Given the description of an element on the screen output the (x, y) to click on. 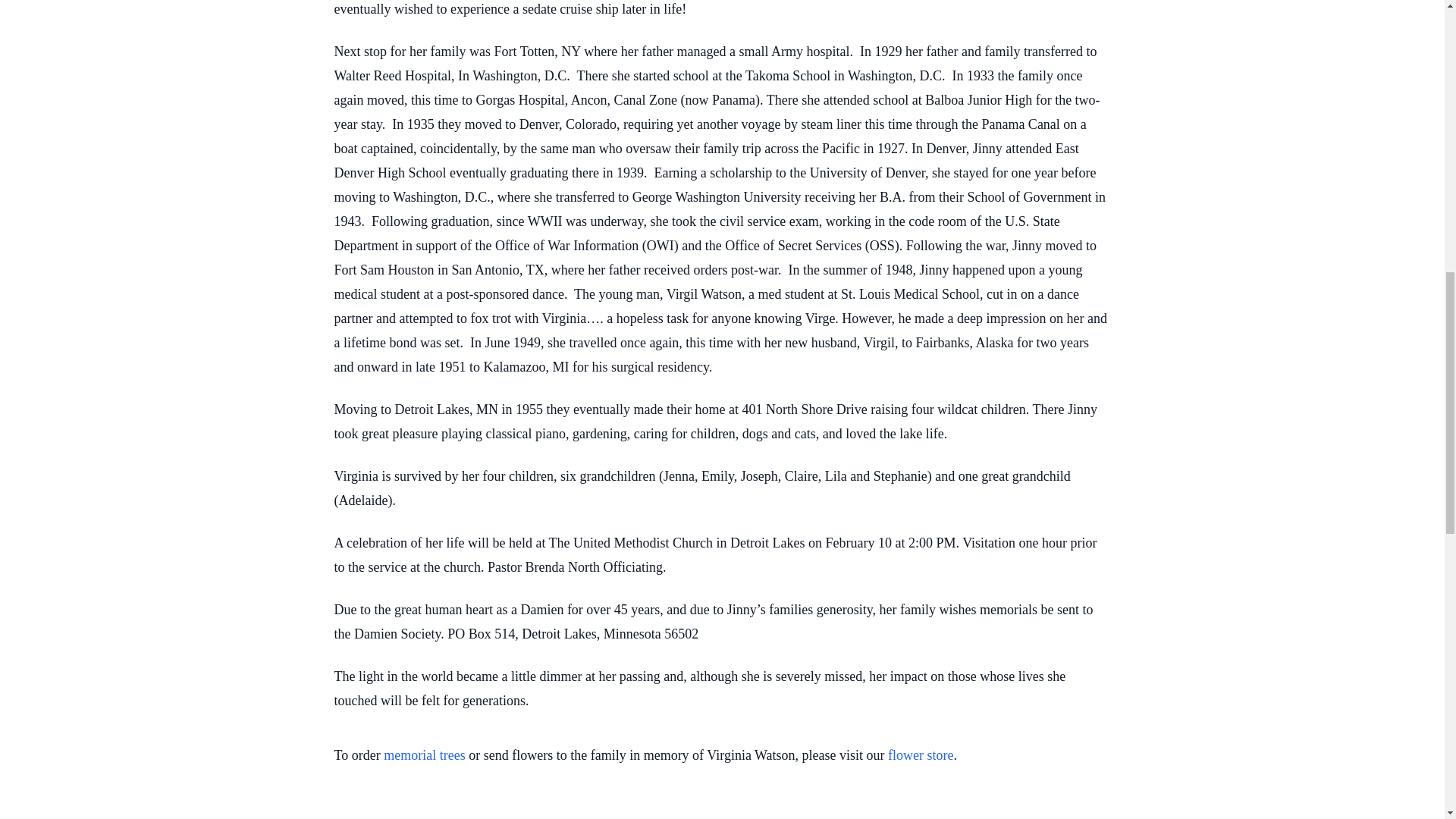
memorial trees (424, 754)
flower store (920, 754)
